Given the description of an element on the screen output the (x, y) to click on. 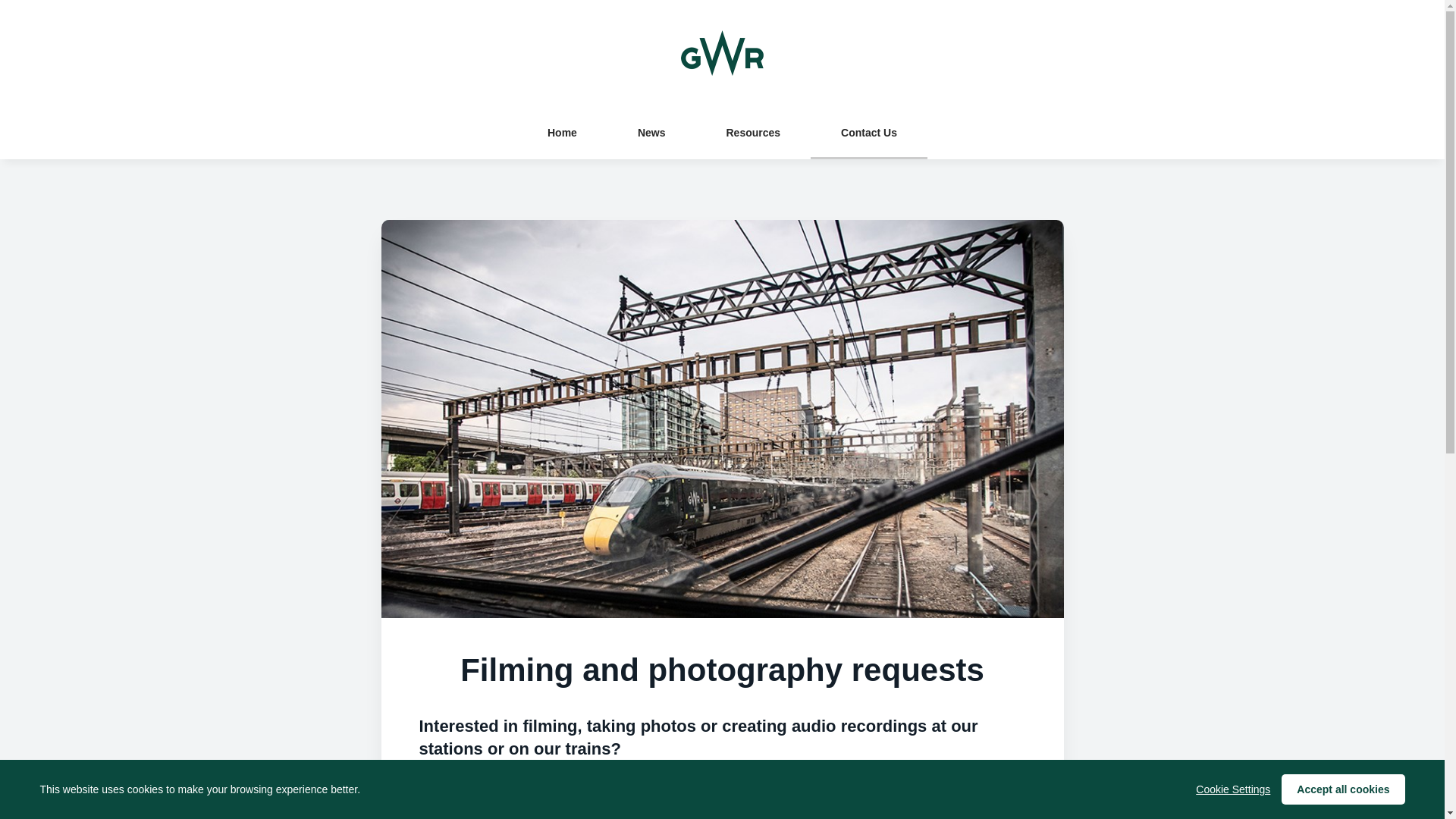
Home (561, 132)
Resources (752, 132)
filming and photography request form (670, 815)
Contact Us (868, 132)
Cookie Settings (1232, 788)
Accept all cookies (1343, 788)
News (651, 132)
